Given the description of an element on the screen output the (x, y) to click on. 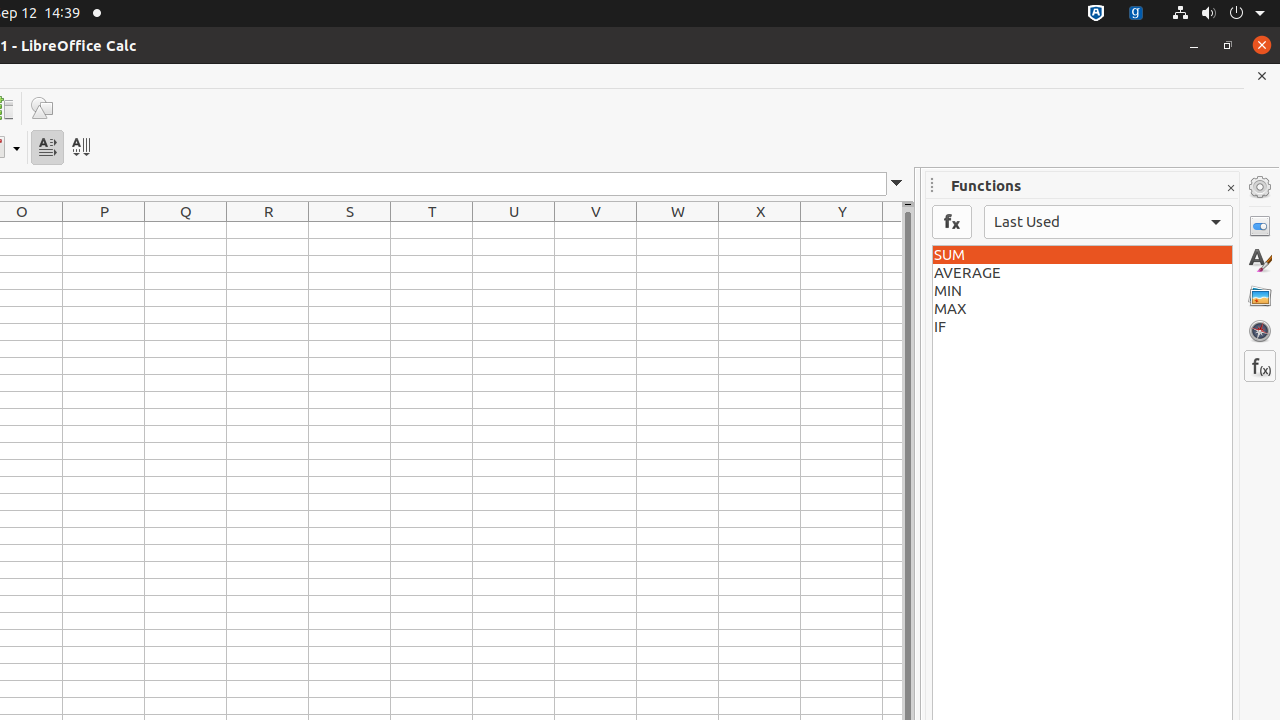
IF Element type: list-item (1082, 327)
Functions Element type: radio-button (1260, 366)
U1 Element type: table-cell (514, 230)
Y1 Element type: table-cell (842, 230)
W1 Element type: table-cell (678, 230)
